Given the description of an element on the screen output the (x, y) to click on. 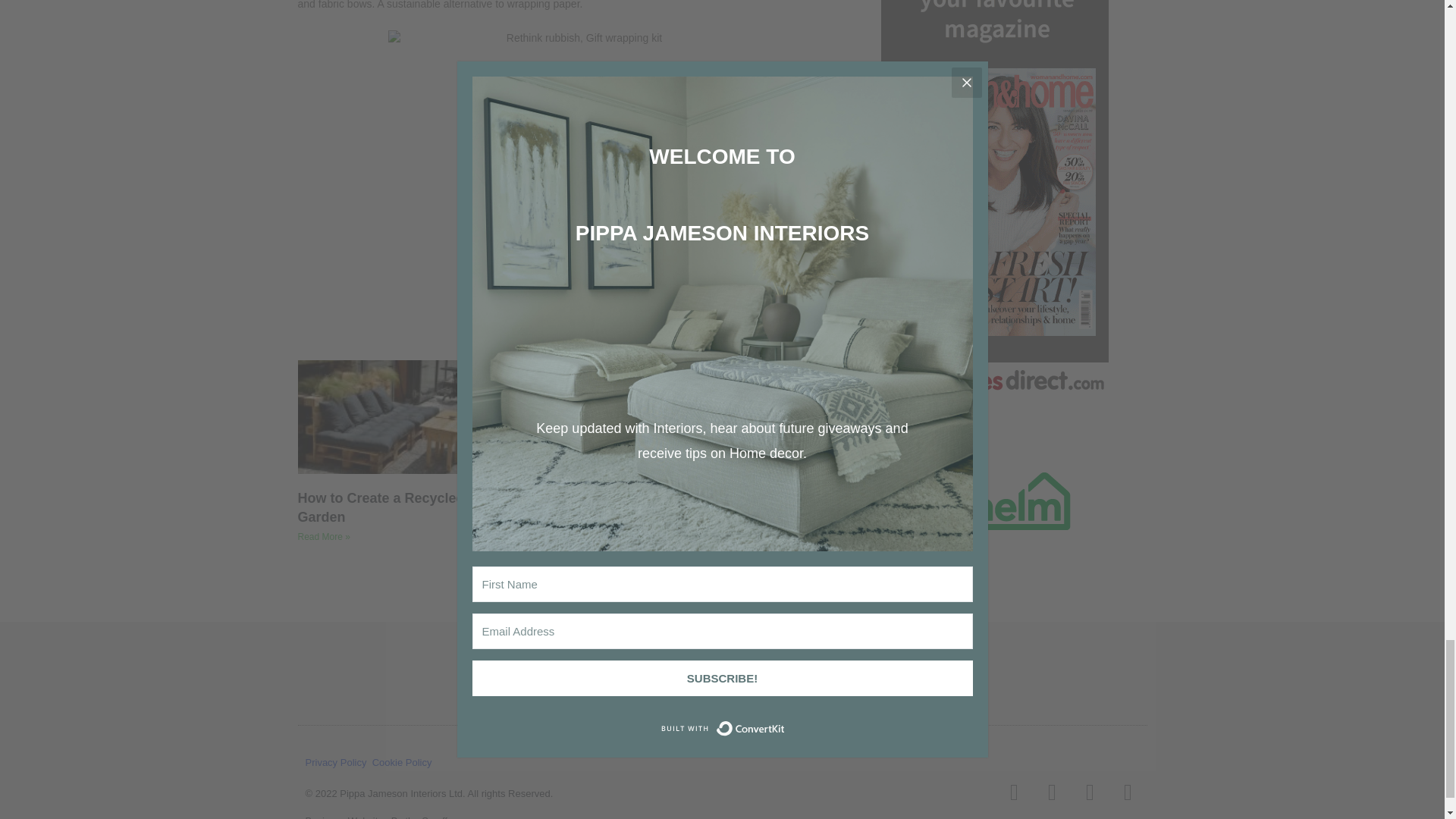
How to Create a Recycled Garden (380, 507)
Rethink rubbish, Gift wrapping kit (577, 155)
